Given the description of an element on the screen output the (x, y) to click on. 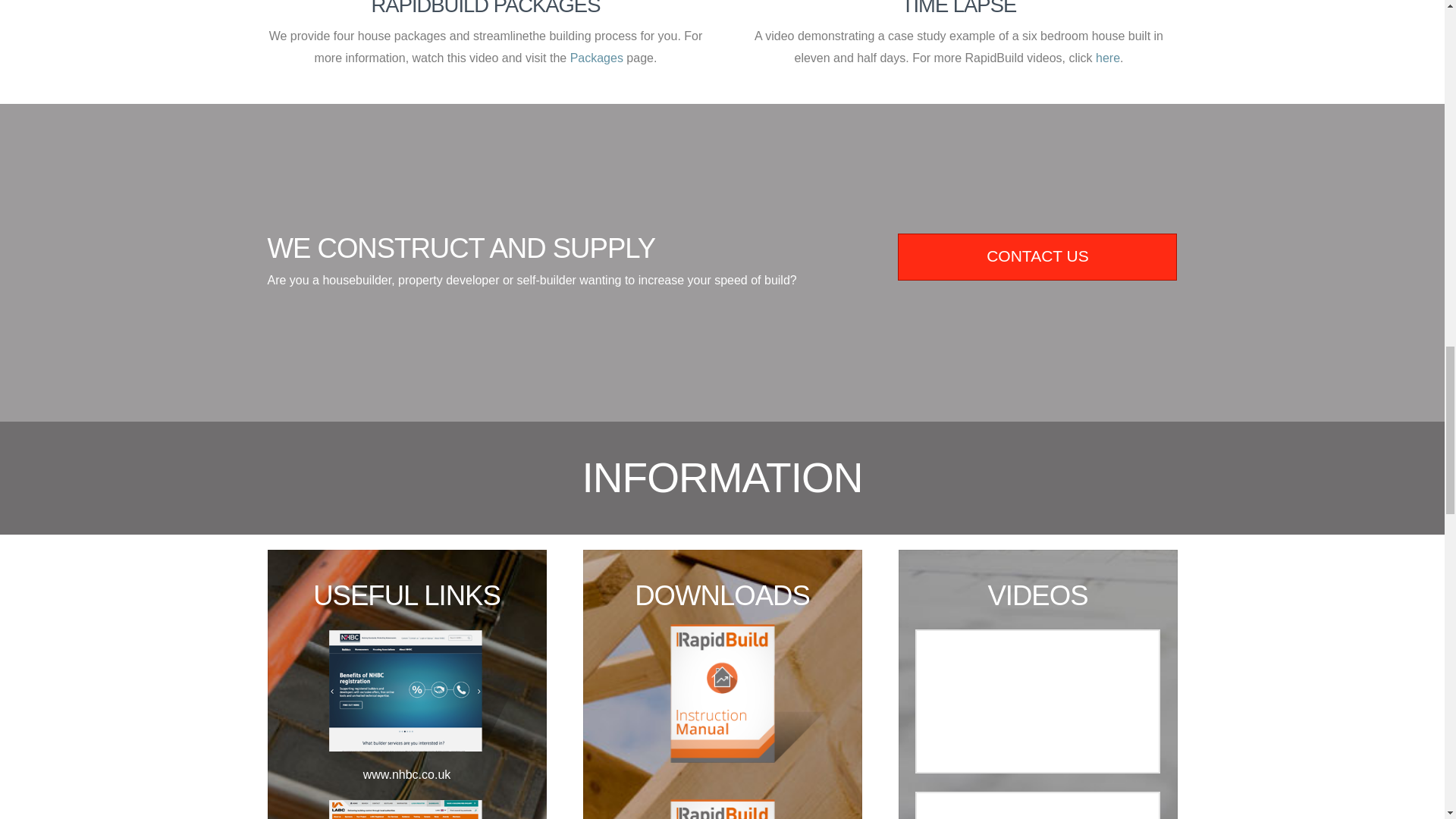
CONTACT US (1037, 256)
www.nhbc.co.uk (406, 732)
here (1107, 57)
Let Us Know You're Coming! (1037, 256)
Packages (596, 57)
